Given the description of an element on the screen output the (x, y) to click on. 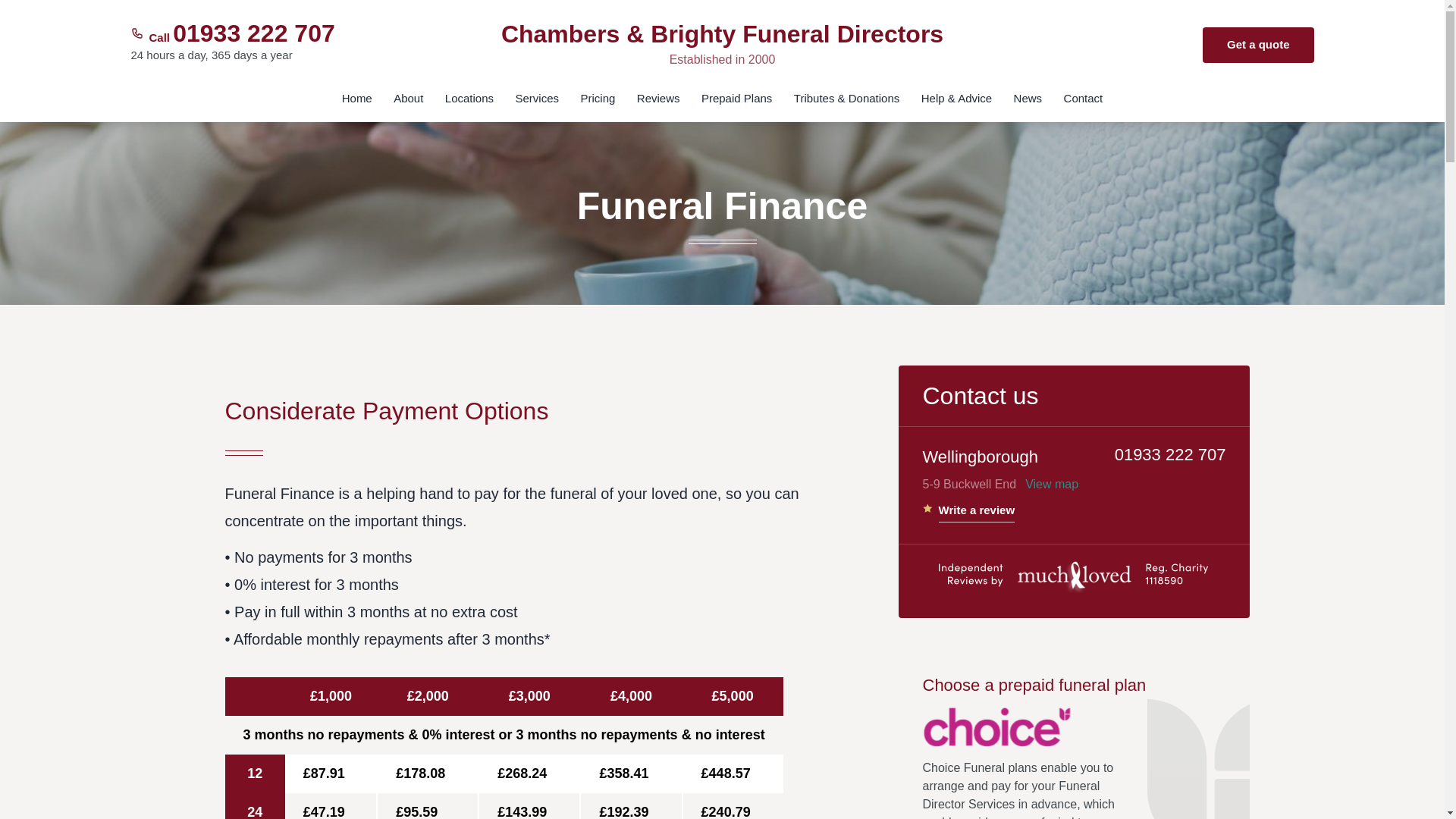
Reviews (657, 104)
Home (357, 104)
About (408, 104)
Locations (468, 104)
Services (537, 104)
01933 222 707 (253, 32)
Pricing (597, 104)
